Given the description of an element on the screen output the (x, y) to click on. 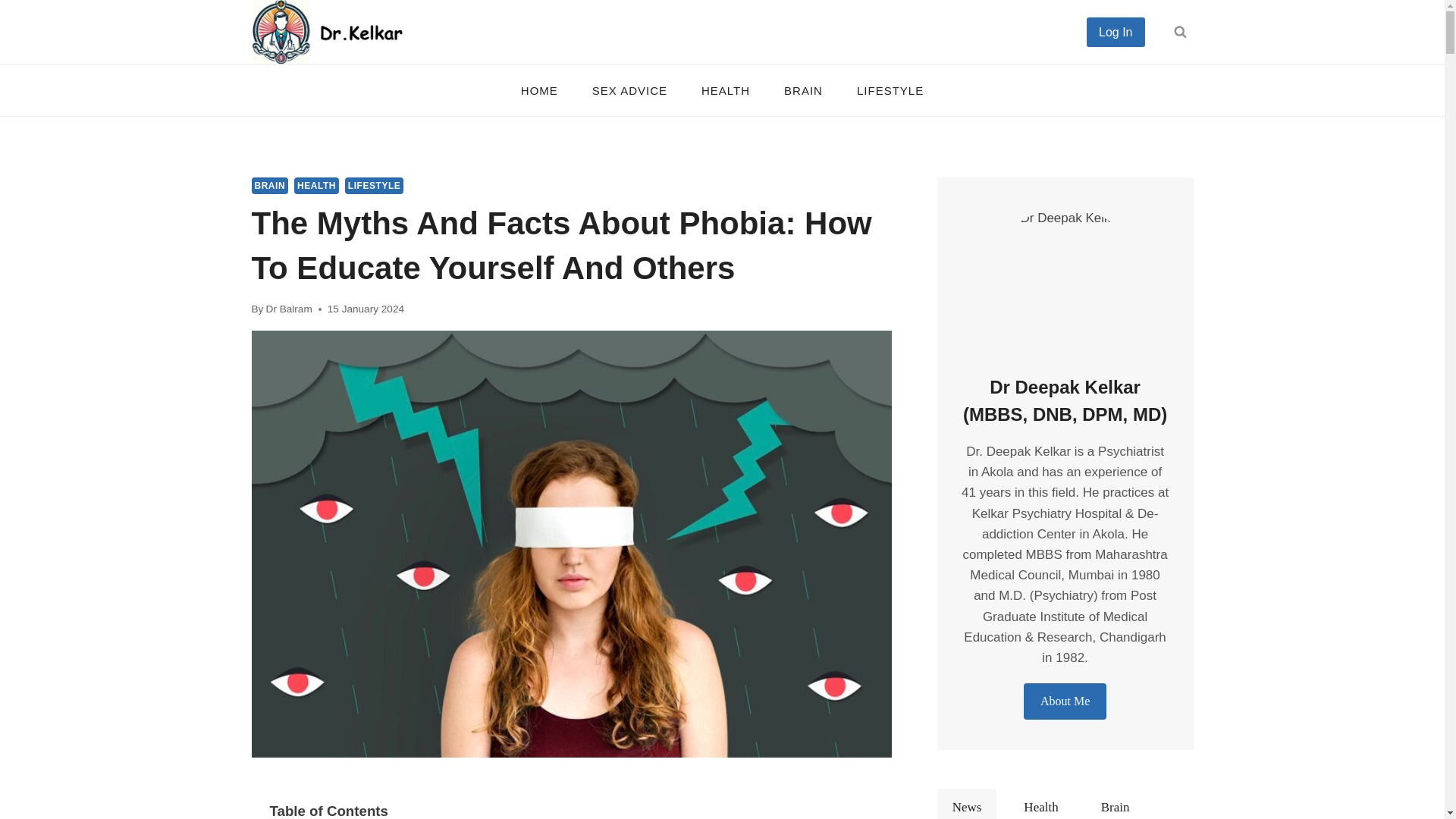
LIFESTYLE (890, 90)
HEALTH (725, 90)
Dr Balram (289, 308)
HEALTH (316, 185)
LIFESTYLE (374, 185)
BRAIN (803, 90)
SEX ADVICE (629, 90)
BRAIN (269, 185)
HOME (539, 90)
Log In (1115, 31)
